Given the description of an element on the screen output the (x, y) to click on. 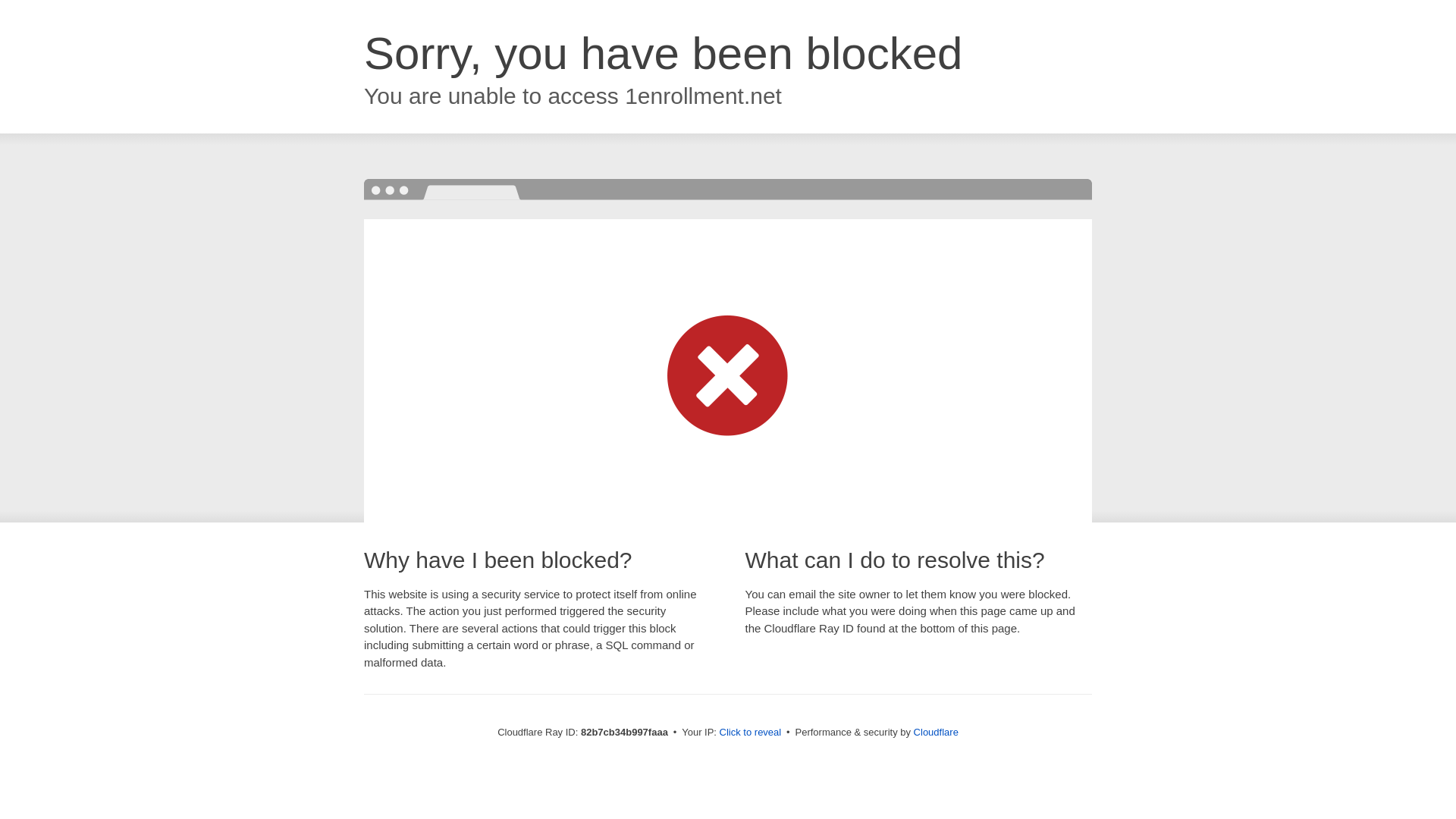
Cloudflare Element type: text (935, 731)
Click to reveal Element type: text (750, 732)
